Given the description of an element on the screen output the (x, y) to click on. 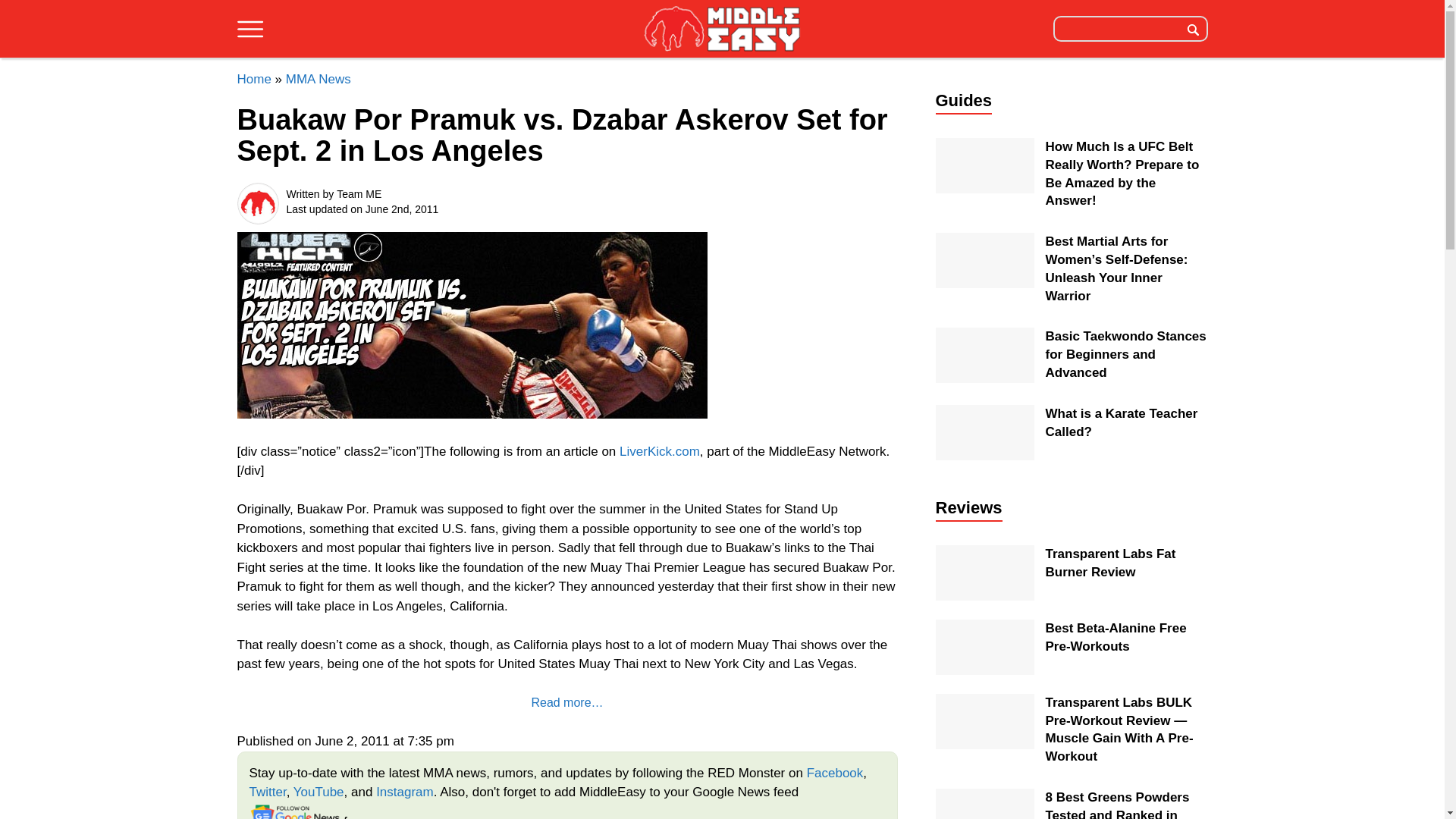
GO (1193, 28)
MiddleEasy (721, 29)
MiddleEasy (721, 28)
